Given the description of an element on the screen output the (x, y) to click on. 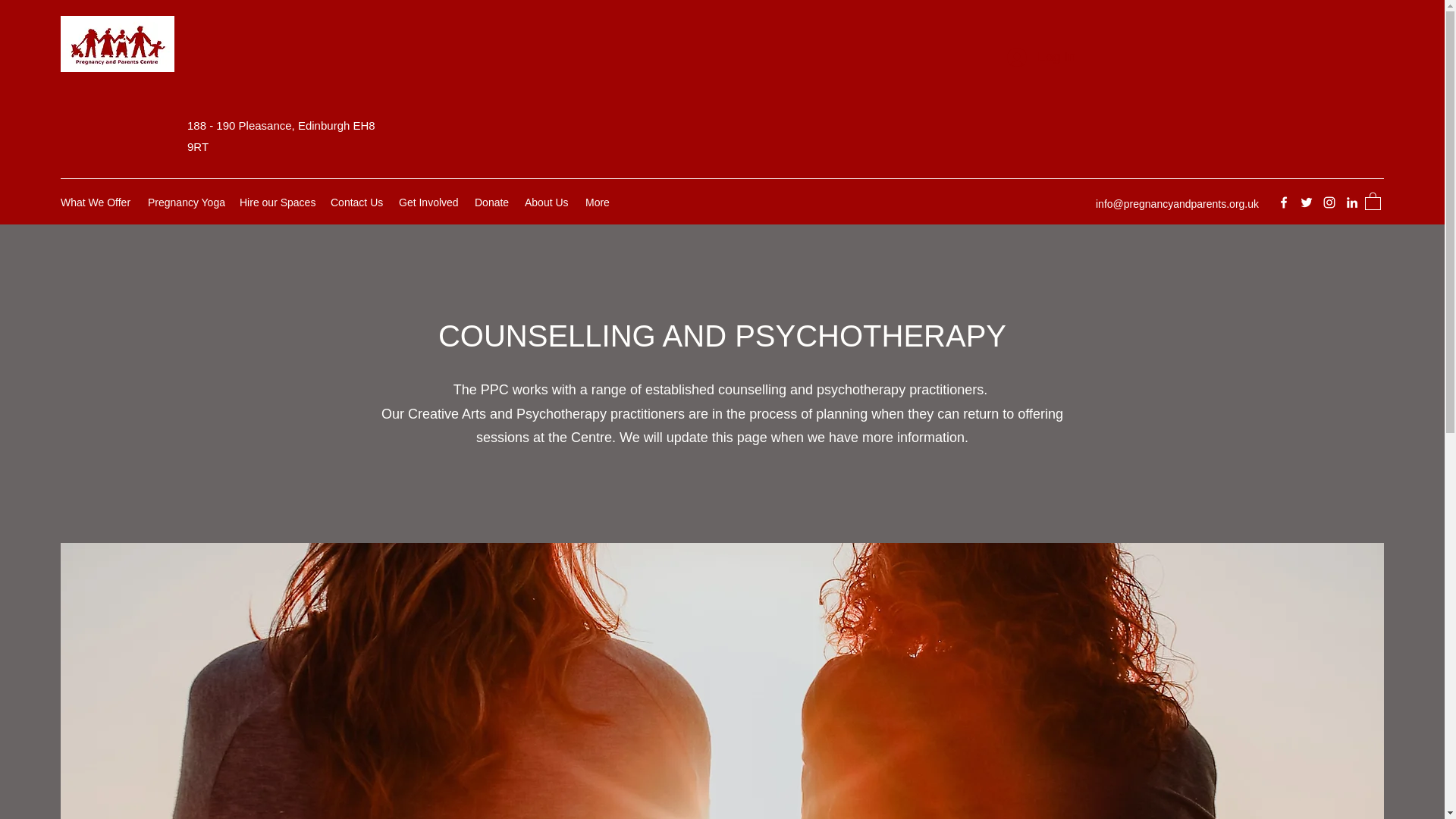
Pregnancy Yoga (185, 201)
Get Involved (429, 201)
What We Offer (95, 201)
Donate (491, 201)
Hire our Spaces (277, 201)
Log In (1040, 57)
Contact Us (357, 201)
